Given the description of an element on the screen output the (x, y) to click on. 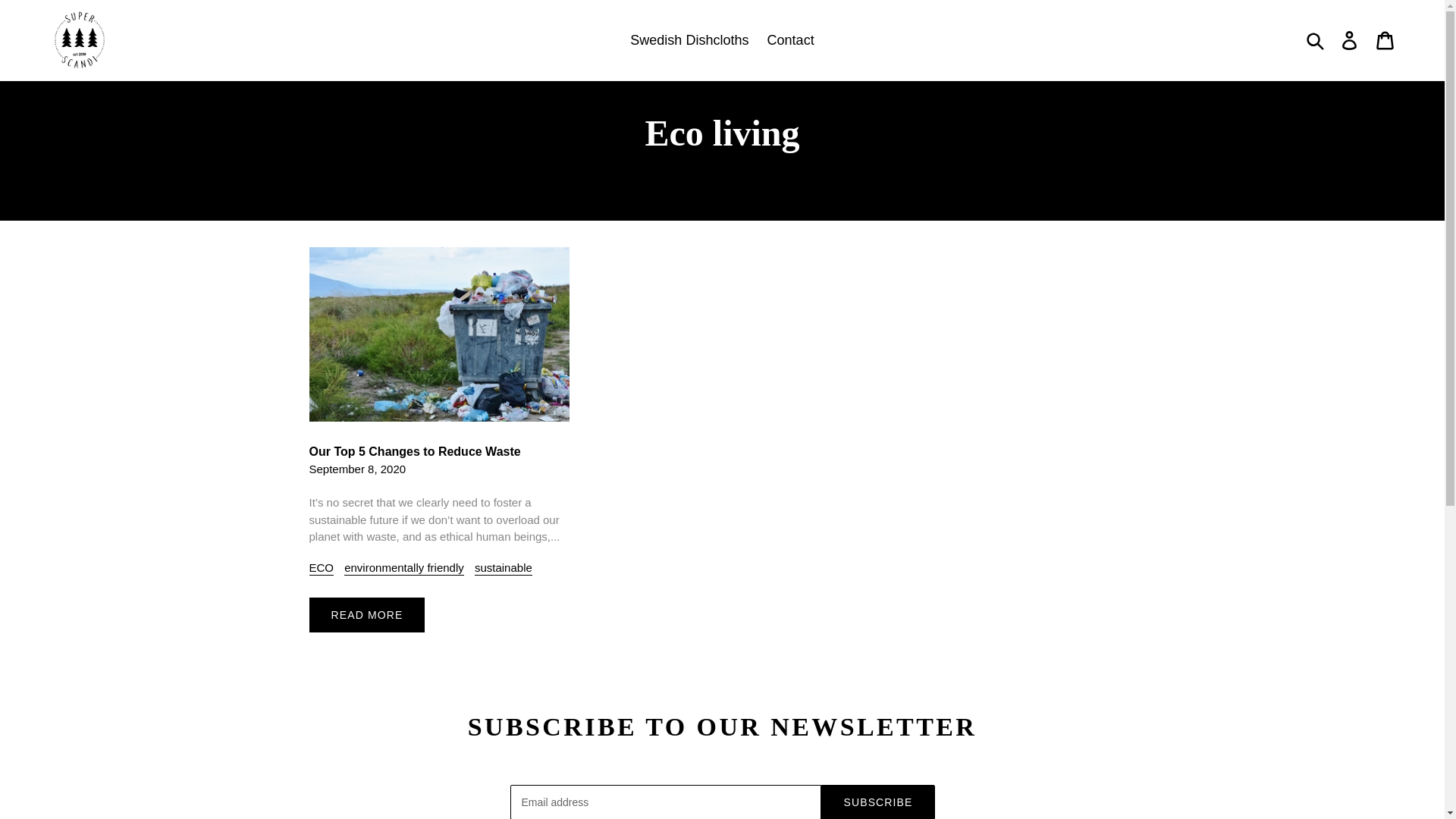
Cart (1385, 39)
SUBSCRIBE (877, 801)
environmentally friendly (403, 568)
Search (1316, 40)
Swedish Dishcloths (689, 39)
READ MORE (366, 614)
Contact (791, 39)
Log in (1349, 39)
sustainable (503, 568)
ECO (321, 568)
